Given the description of an element on the screen output the (x, y) to click on. 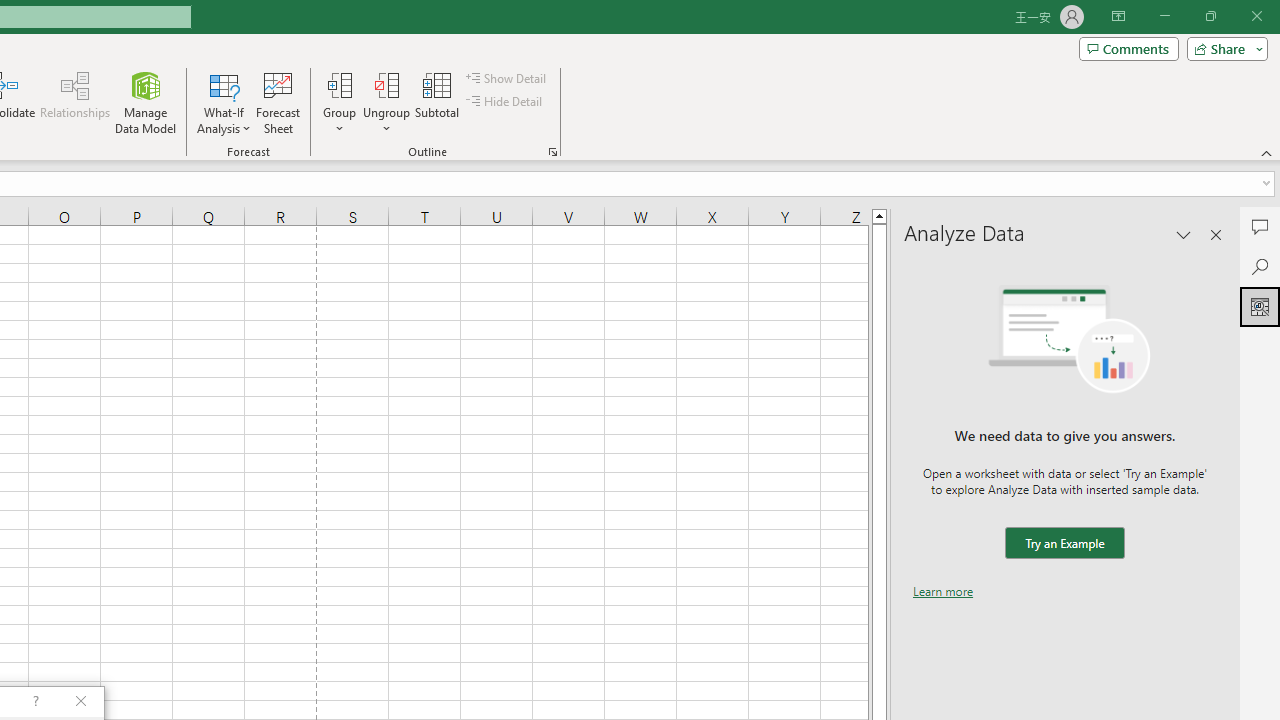
Learn more (943, 591)
We need data to give you answers. Try an Example (1064, 543)
